Given the description of an element on the screen output the (x, y) to click on. 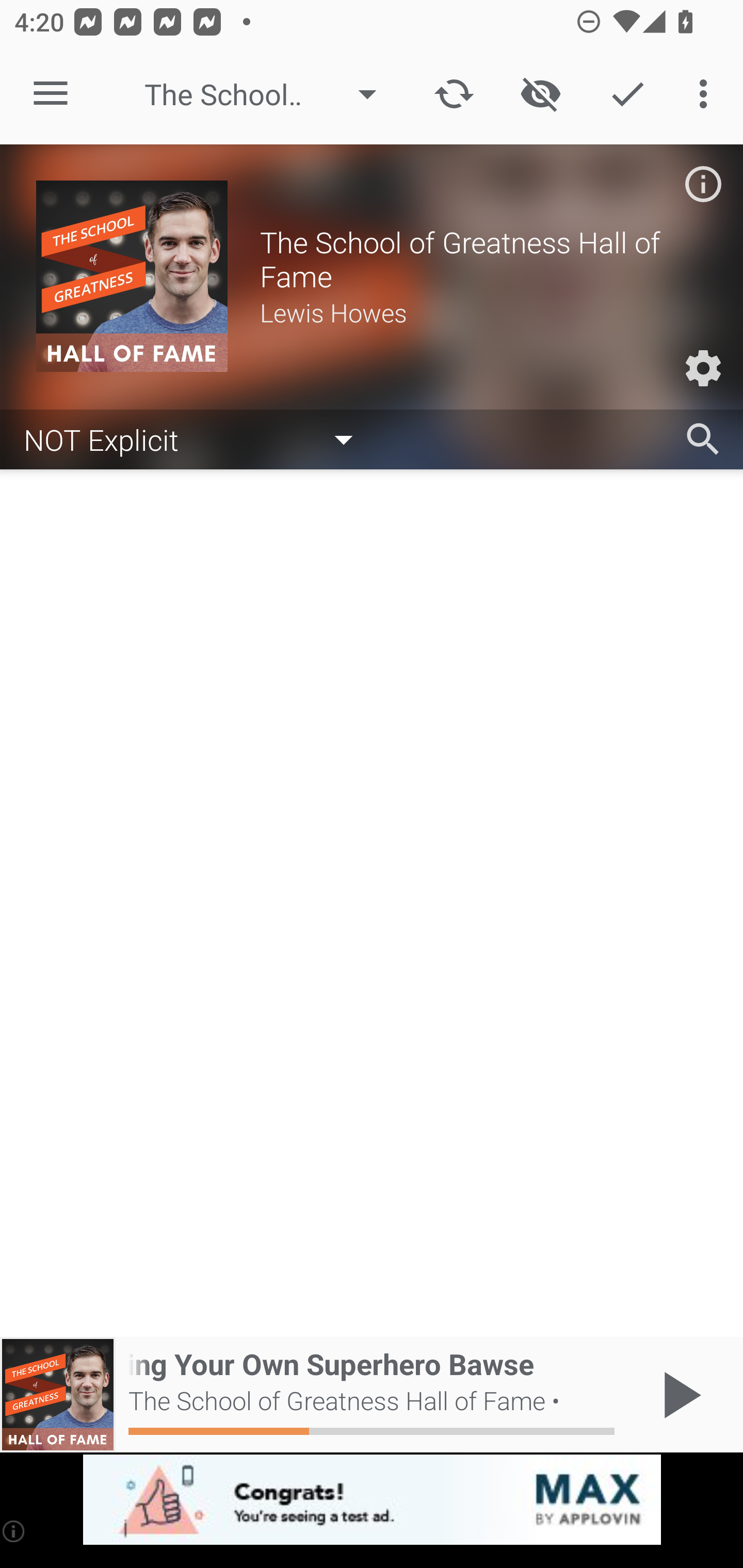
Open navigation sidebar (50, 93)
Update (453, 93)
Show / Hide played content (540, 93)
Action Mode (626, 93)
More options (706, 93)
The School of Greatness Hall of Fame (270, 94)
Podcast description (703, 184)
Lewis Howes (483, 311)
Custom Settings (703, 368)
Search (703, 439)
NOT Explicit (197, 438)
Play / Pause (677, 1394)
app-monetization (371, 1500)
(i) (14, 1531)
